Given the description of an element on the screen output the (x, y) to click on. 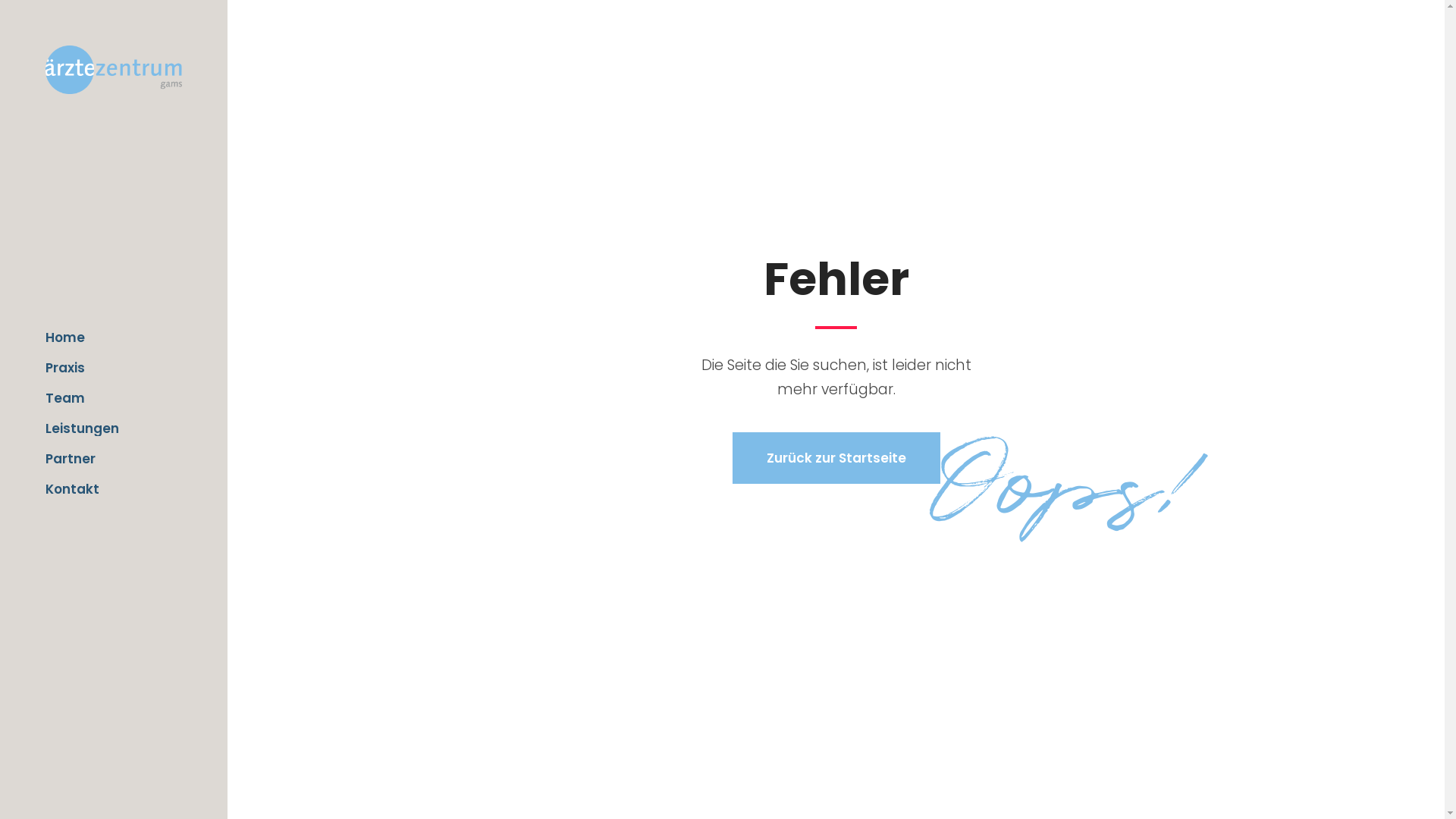
Partner Element type: text (113, 458)
Kontakt Element type: text (113, 488)
Team Element type: text (113, 397)
Praxis Element type: text (113, 367)
Home Element type: text (113, 337)
Leistungen Element type: text (113, 428)
